Given the description of an element on the screen output the (x, y) to click on. 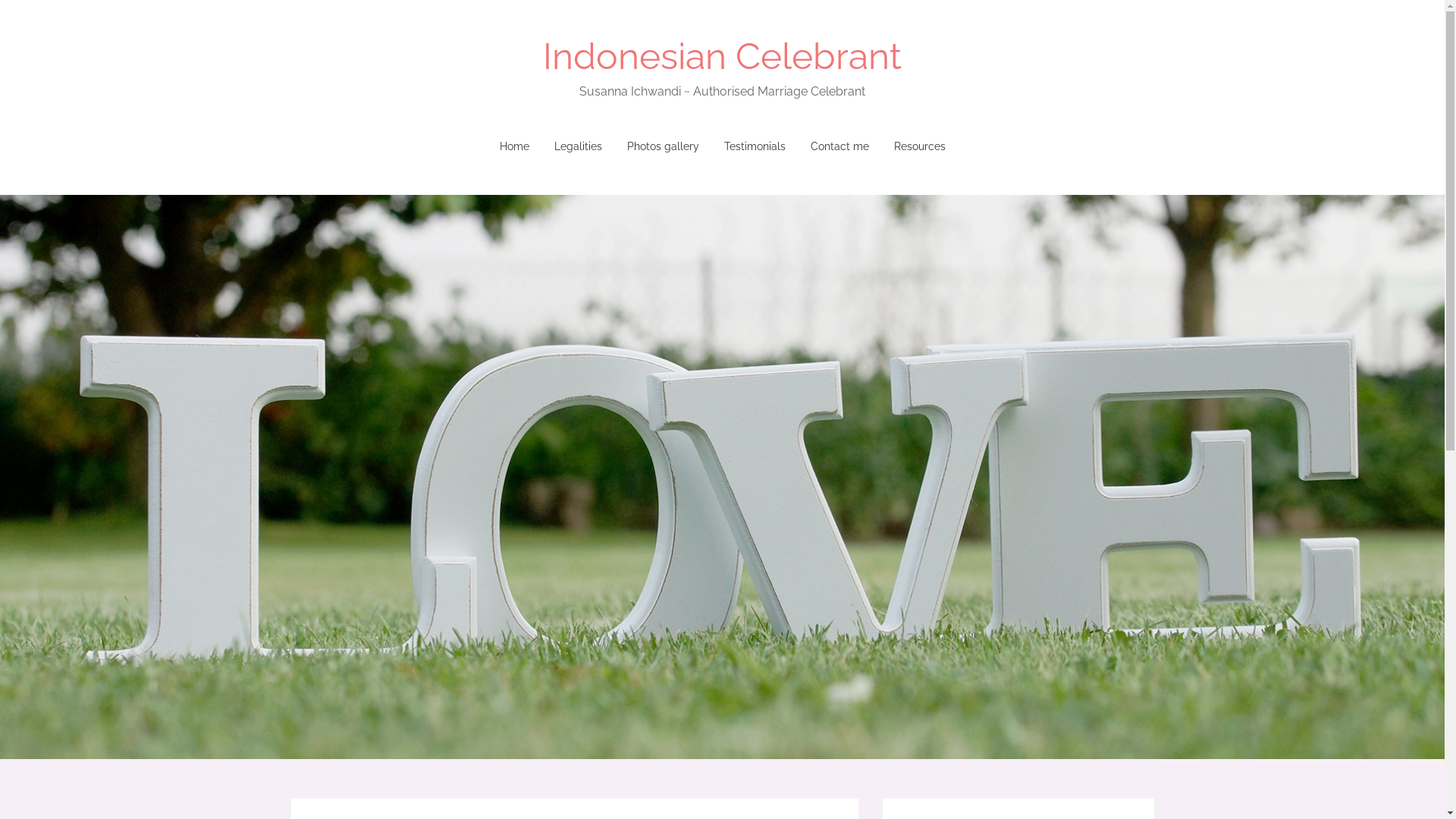
Resources Element type: text (918, 145)
Photos gallery Element type: text (662, 145)
Indonesian Celebrant Element type: text (721, 55)
Testimonials Element type: text (754, 145)
Home Element type: text (513, 145)
Legalities Element type: text (577, 145)
Contact me Element type: text (839, 145)
Skip to content Element type: text (326, 145)
